Given the description of an element on the screen output the (x, y) to click on. 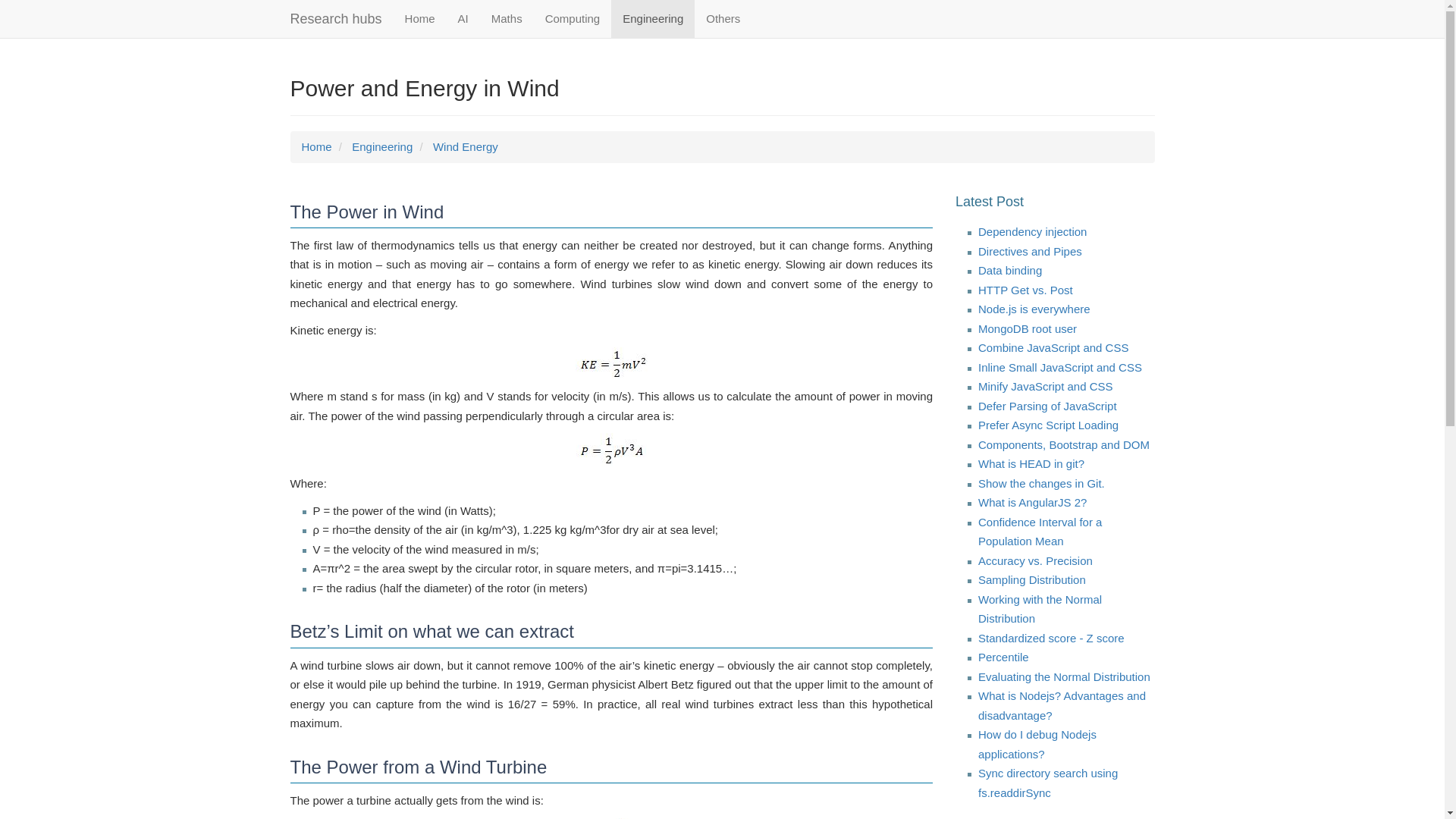
Node.js is everywhere (1034, 308)
Directives and Pipes (1029, 250)
http get vs. post (1025, 289)
Show the changes in Git. (1041, 482)
Prefer Async Script Loading (1048, 424)
Inline Small JavaScript and CSS (1059, 367)
Sampling Distribution (1032, 579)
Engineering (382, 146)
Directives and Pipes (1029, 250)
What is AngularJS 2? (1032, 502)
Home (419, 18)
Inline Small JavaScript and CSS (1059, 367)
Maths (507, 18)
HTTP Get vs. Post (1025, 289)
Home (316, 146)
